Given the description of an element on the screen output the (x, y) to click on. 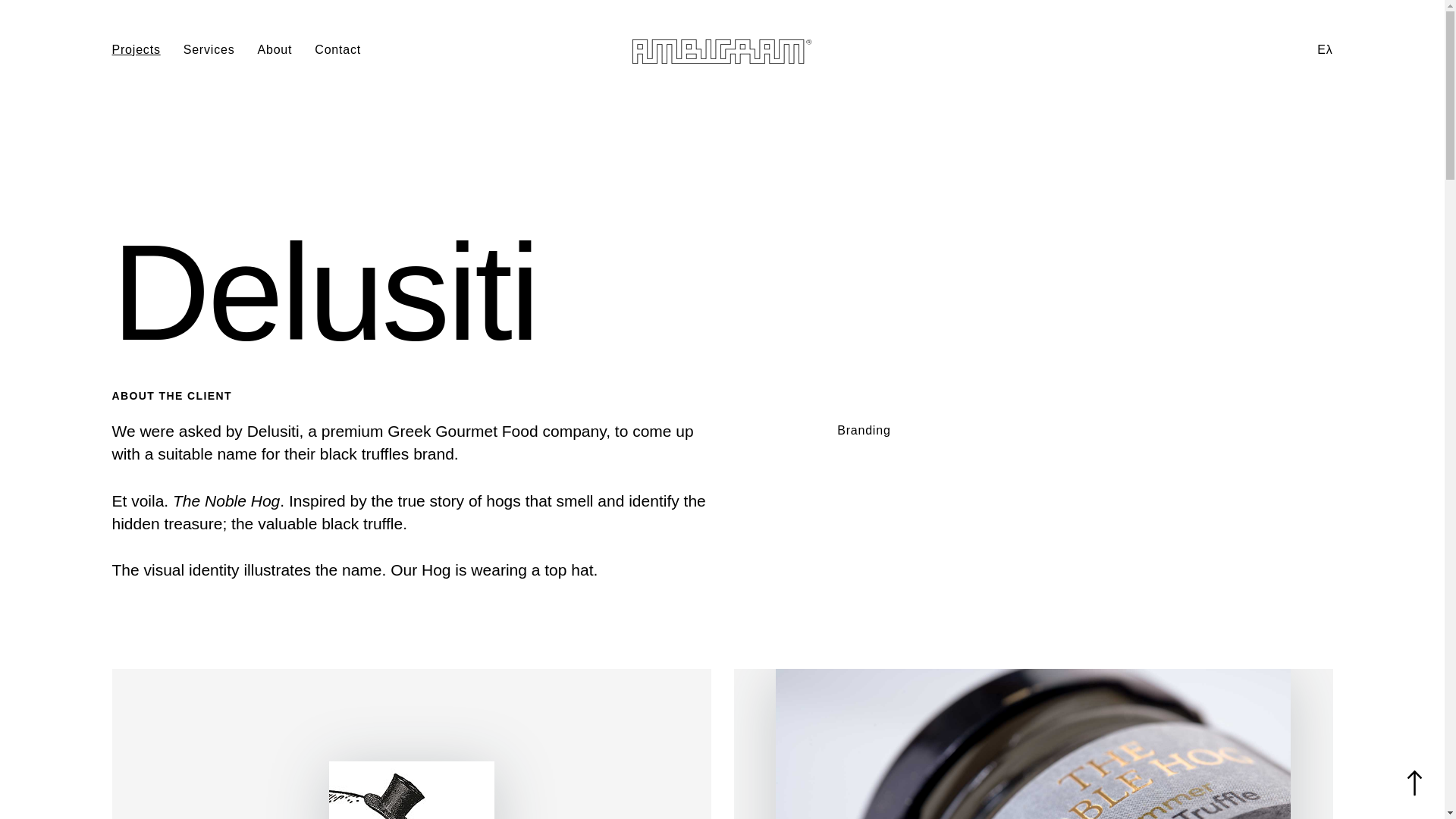
Projects (136, 49)
Contact (337, 49)
Services (208, 49)
About (274, 49)
